Given the description of an element on the screen output the (x, y) to click on. 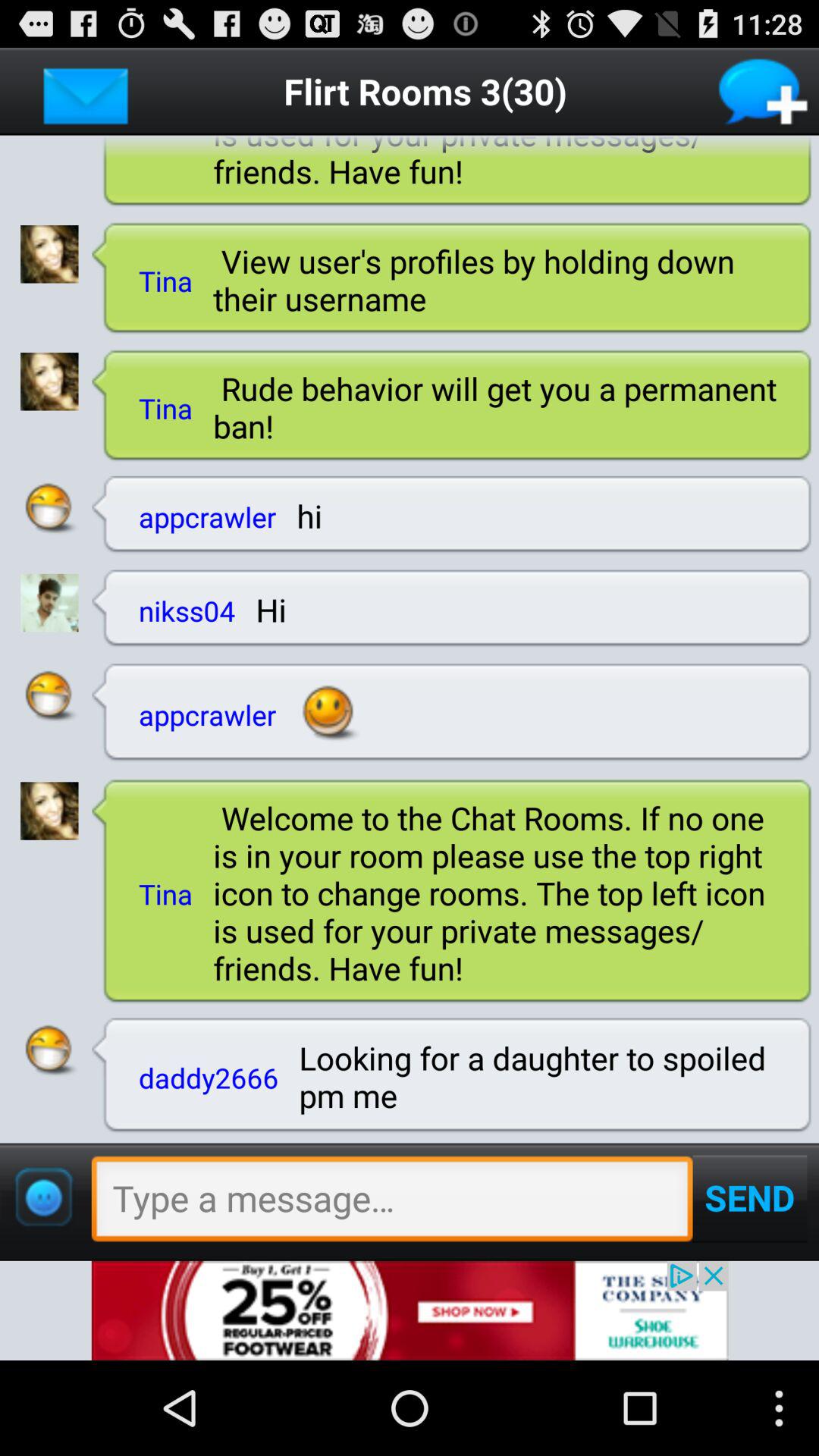
view profile (49, 811)
